Given the description of an element on the screen output the (x, y) to click on. 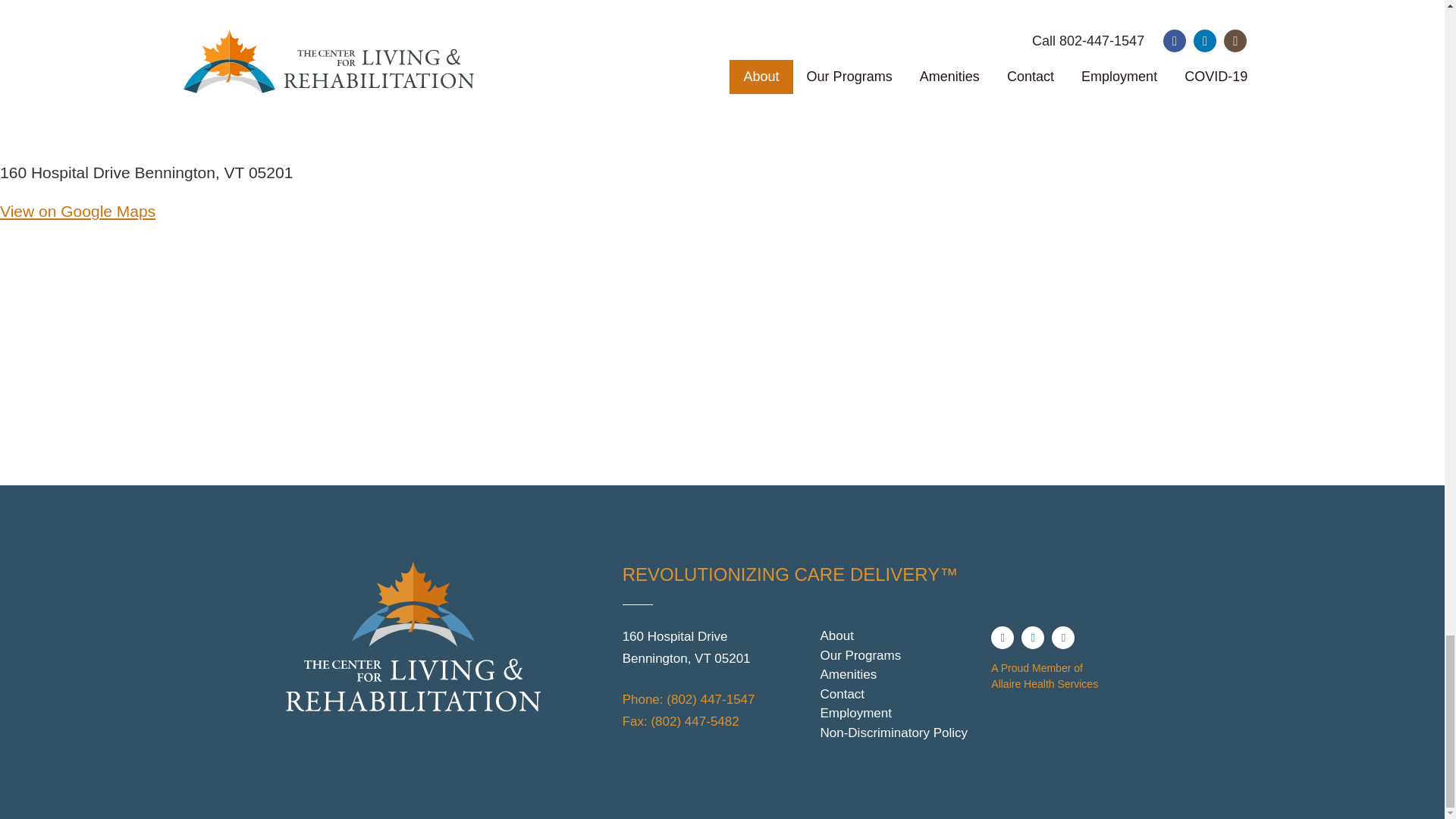
Amenities (899, 674)
View on Google Maps (77, 211)
Our Programs (899, 655)
About (899, 636)
